Given the description of an element on the screen output the (x, y) to click on. 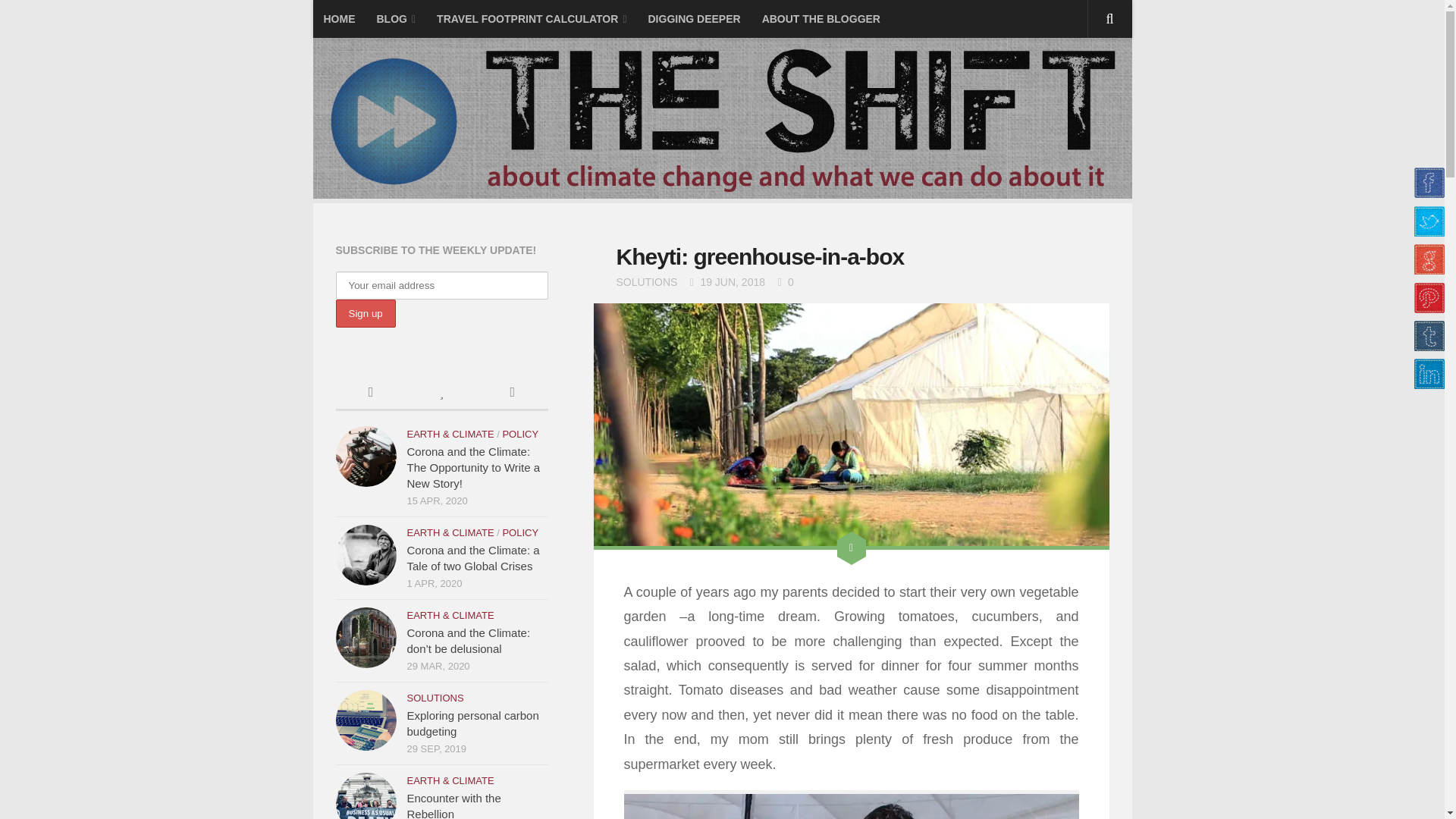
SOLUTIONS (646, 282)
TRAVEL FOOTPRINT CALCULATOR (531, 18)
BLOG (395, 18)
Sign up (364, 313)
Recent Posts (370, 393)
ABOUT THE BLOGGER (821, 18)
Tags (512, 393)
Corona and the Climate: a Tale of two Global Crises (365, 554)
0 (783, 282)
DIGGING DEEPER (694, 18)
Corona and the Climate: a Tale of two Global Crises (472, 557)
HOME (339, 18)
Popular Posts (441, 393)
